Given the description of an element on the screen output the (x, y) to click on. 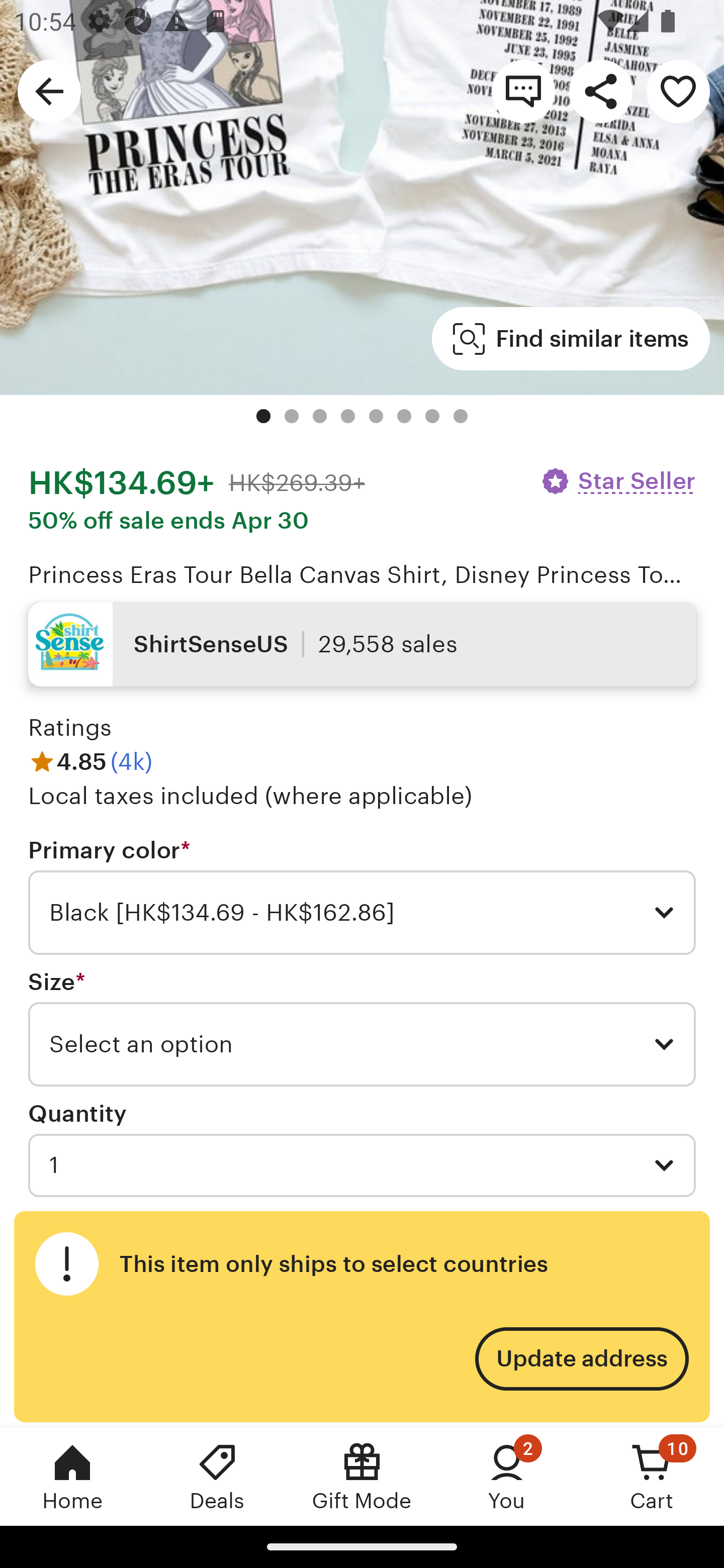
Navigate up (49, 90)
Contact shop (523, 90)
Share (600, 90)
Find similar items (571, 338)
Star Seller (617, 481)
ShirtSenseUS 29,558 sales (361, 644)
Ratings (70, 727)
4.85 (4k) (90, 761)
Black [HK$134.69 - HK$162.86] (361, 912)
Size * Required Select an option (361, 1027)
Select an option (361, 1043)
Quantity (77, 1113)
1 (361, 1164)
Update address (581, 1359)
Deals (216, 1475)
Gift Mode (361, 1475)
You, 2 new notifications You (506, 1475)
Cart, 10 new notifications Cart (651, 1475)
